Given the description of an element on the screen output the (x, y) to click on. 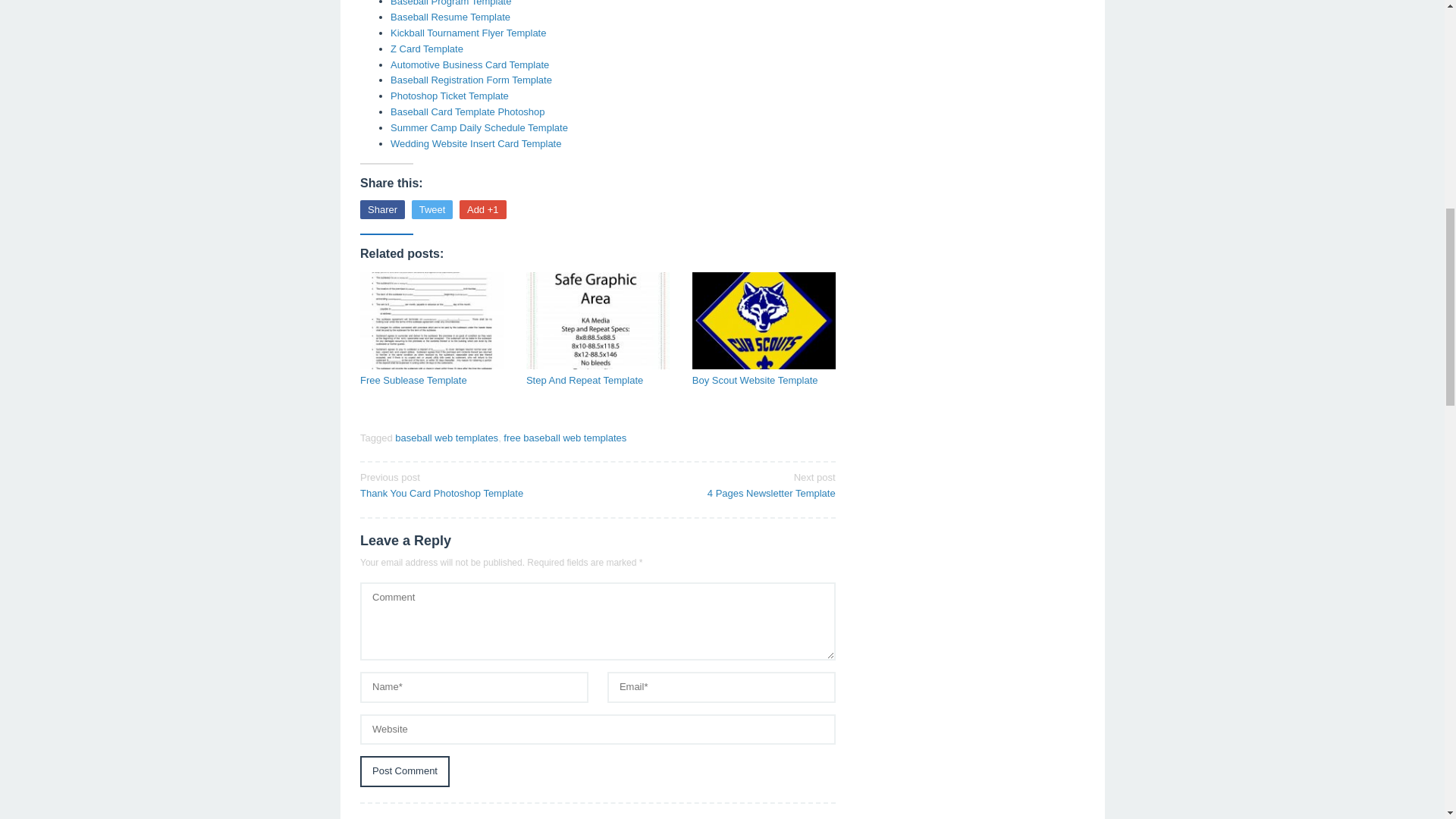
Step And Repeat Template (597, 381)
free baseball web templates (564, 437)
Boy Scout Website Template (764, 381)
Free Sublease Template (431, 381)
June 24, 2018 (469, 64)
May 16, 2018 (470, 79)
May 28, 2018 (721, 484)
Baseball Program Template (467, 111)
baseball web templates (450, 3)
May 27, 2018 (445, 437)
Sharer (450, 16)
Tweet (381, 209)
Z Card Template (432, 209)
Wedding Website Insert Card Template (426, 48)
